Given the description of an element on the screen output the (x, y) to click on. 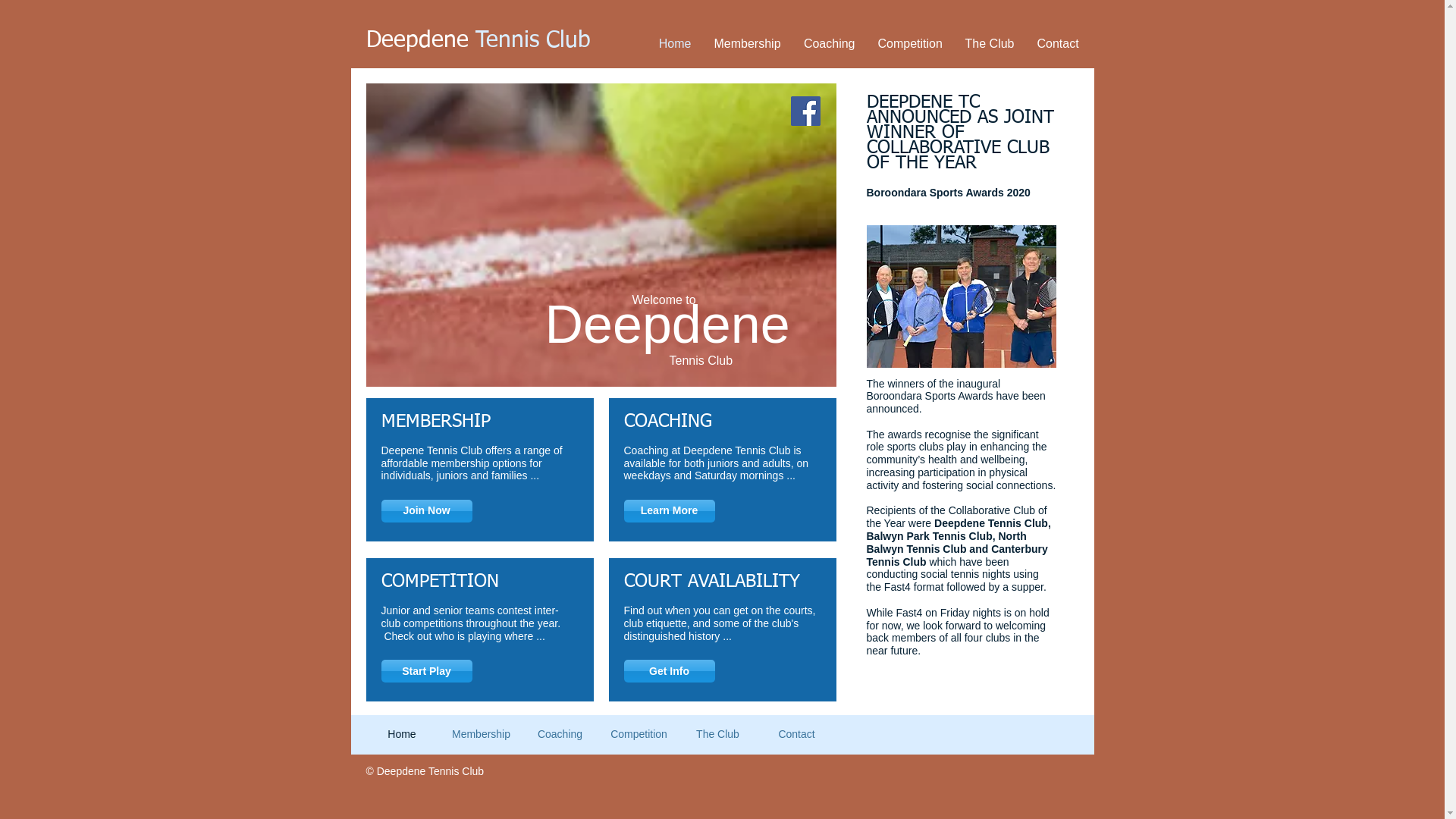
Home Element type: text (674, 43)
The Club Element type: text (989, 43)
Membership Element type: text (480, 733)
Contact Element type: text (1057, 43)
Home Element type: text (402, 733)
Coaching Element type: text (559, 733)
Membership Element type: text (746, 43)
Contact Element type: text (795, 733)
Join Now Element type: text (425, 510)
The Club Element type: text (716, 733)
Coaching Element type: text (828, 43)
Learn More Element type: text (668, 510)
Get Info Element type: text (668, 670)
Start Play Element type: text (425, 670)
Competition Element type: text (638, 733)
Competition Element type: text (909, 43)
